Given the description of an element on the screen output the (x, y) to click on. 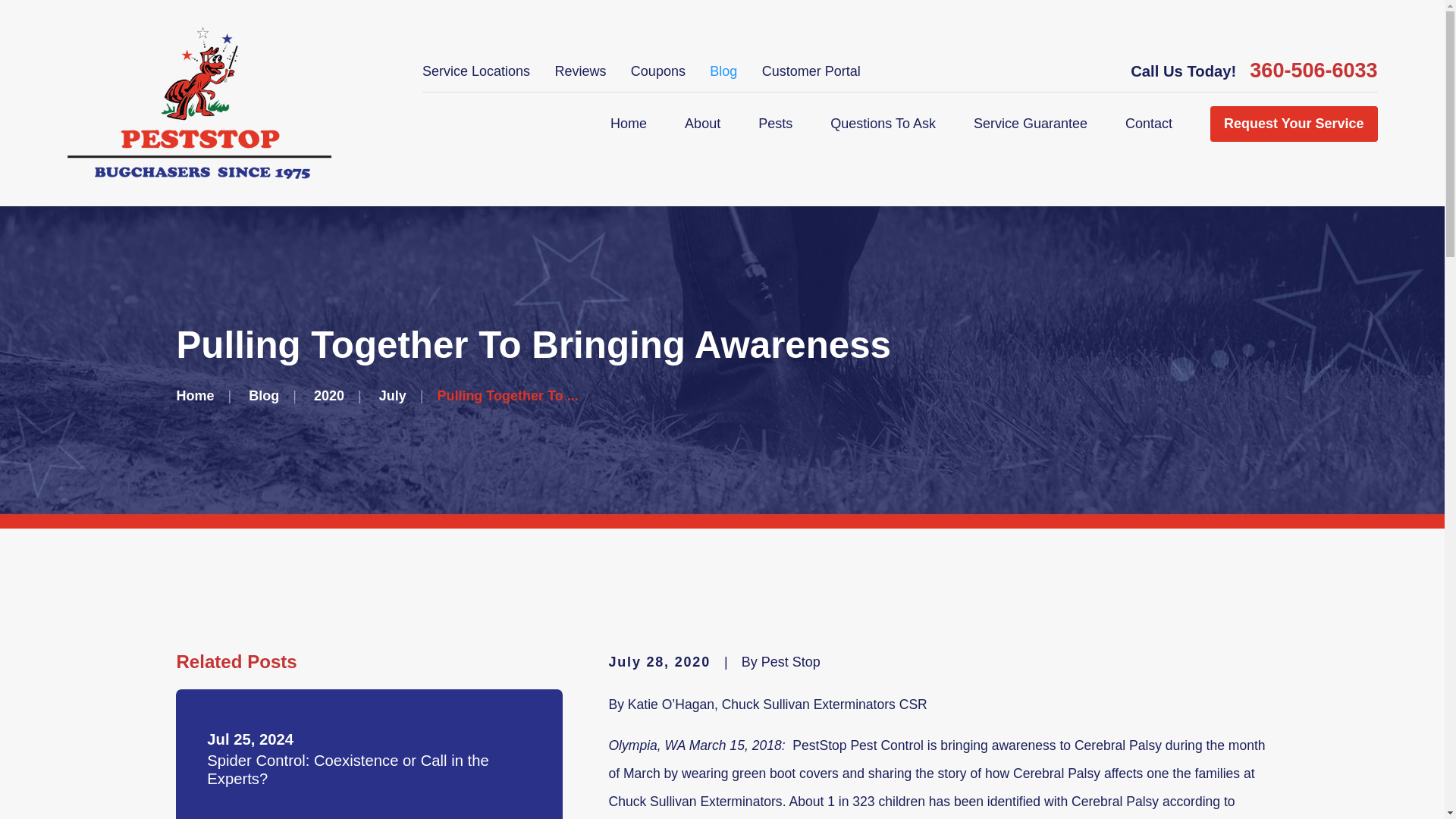
Pest Stop (198, 103)
Customer Portal (810, 70)
Service Locations (475, 70)
Coupons (657, 70)
About (702, 124)
Home (628, 124)
Pests (775, 124)
Home (198, 102)
Reviews (579, 70)
Blog (723, 70)
